Given the description of an element on the screen output the (x, y) to click on. 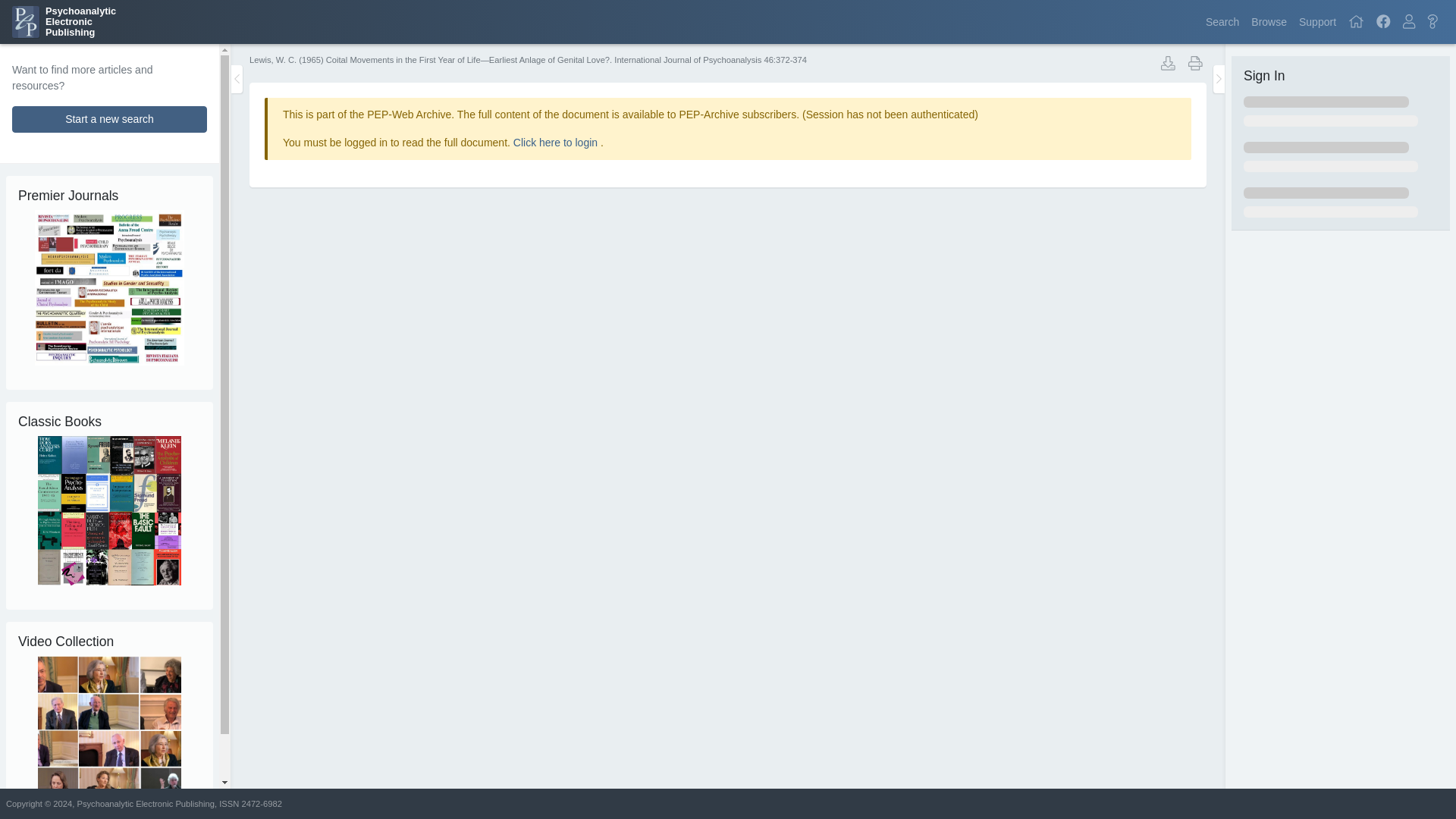
Browse (1268, 22)
Start a new search (63, 21)
Click here to login (108, 119)
PEP Facebook Page (556, 142)
Support (1383, 22)
Home (1317, 22)
Support (1356, 22)
Search (1317, 22)
